Given the description of an element on the screen output the (x, y) to click on. 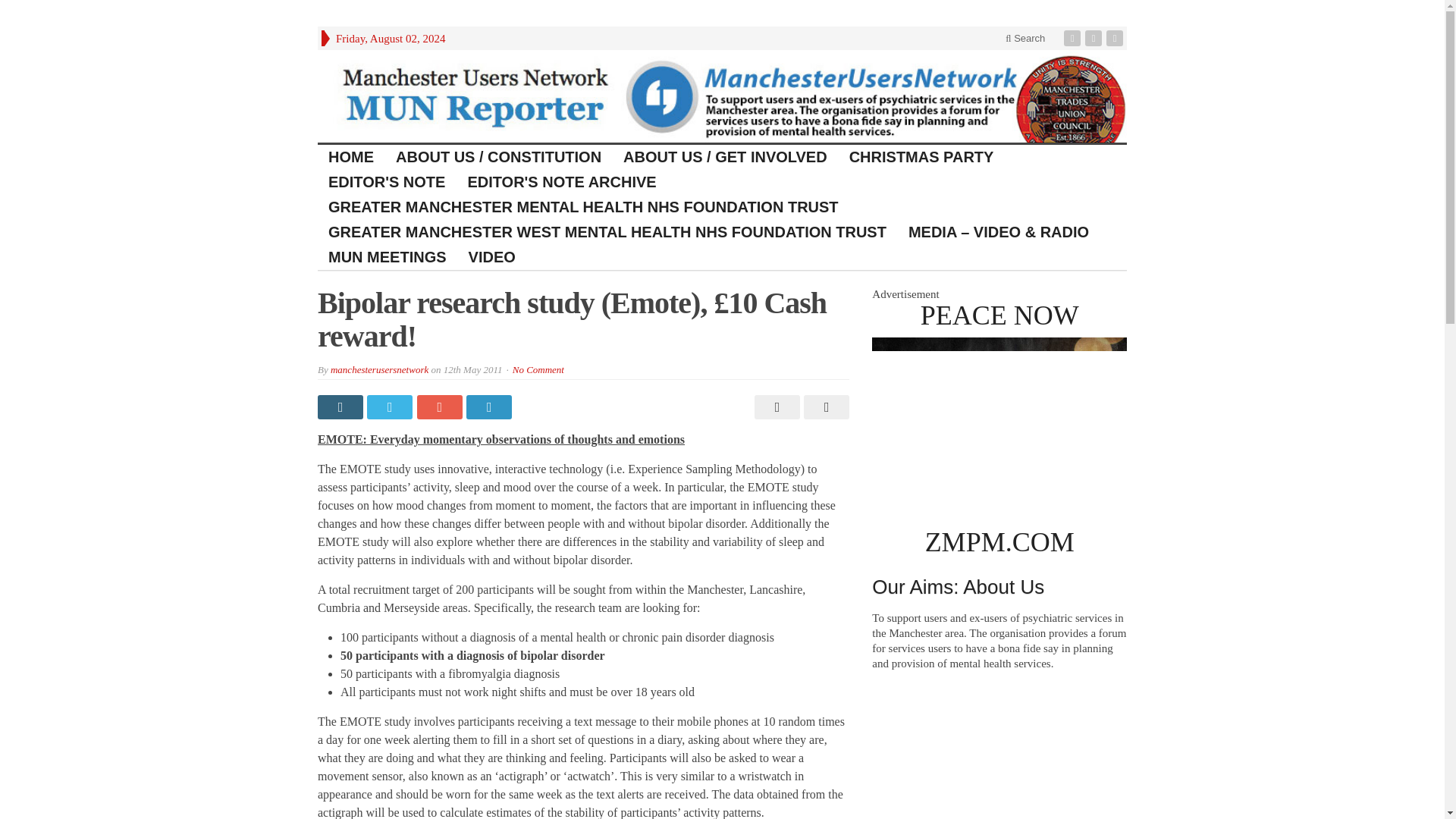
Search (1024, 37)
Twitter (1094, 37)
VIDEO (492, 257)
CHRISTMAS PARTY (922, 156)
HOME (351, 156)
EDITOR'S NOTE (387, 181)
GREATER MANCHESTER MENTAL HEALTH NHS FOUNDATION TRUST (583, 207)
Share on Facebook (341, 406)
Send by Email (823, 406)
Share on Twitter (391, 406)
GREATER MANCHESTER WEST MENTAL HEALTH NHS FOUNDATION TRUST (607, 232)
Share on LinkedIn (490, 406)
No Comment (538, 369)
Facebook (1073, 37)
